Given the description of an element on the screen output the (x, y) to click on. 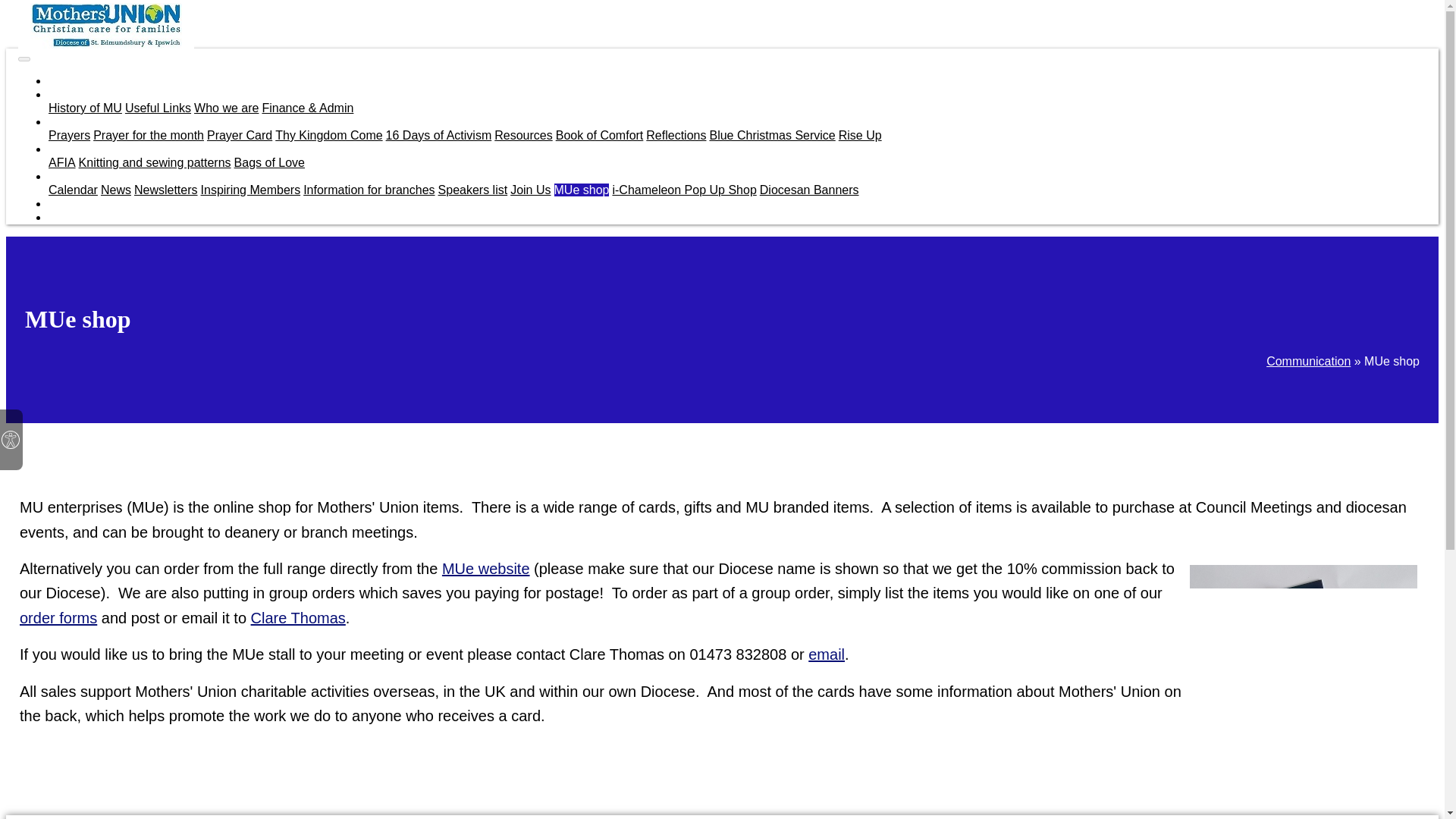
Speakers list (473, 189)
Book of Comfort (599, 134)
16 Days of Activism (438, 134)
i-Chameleon Pop Up Shop (683, 189)
MUe shop (582, 189)
Outreach (73, 148)
Calendar (72, 189)
Inspiring Members (250, 189)
Communication (90, 175)
Who we are (226, 107)
